Given the description of an element on the screen output the (x, y) to click on. 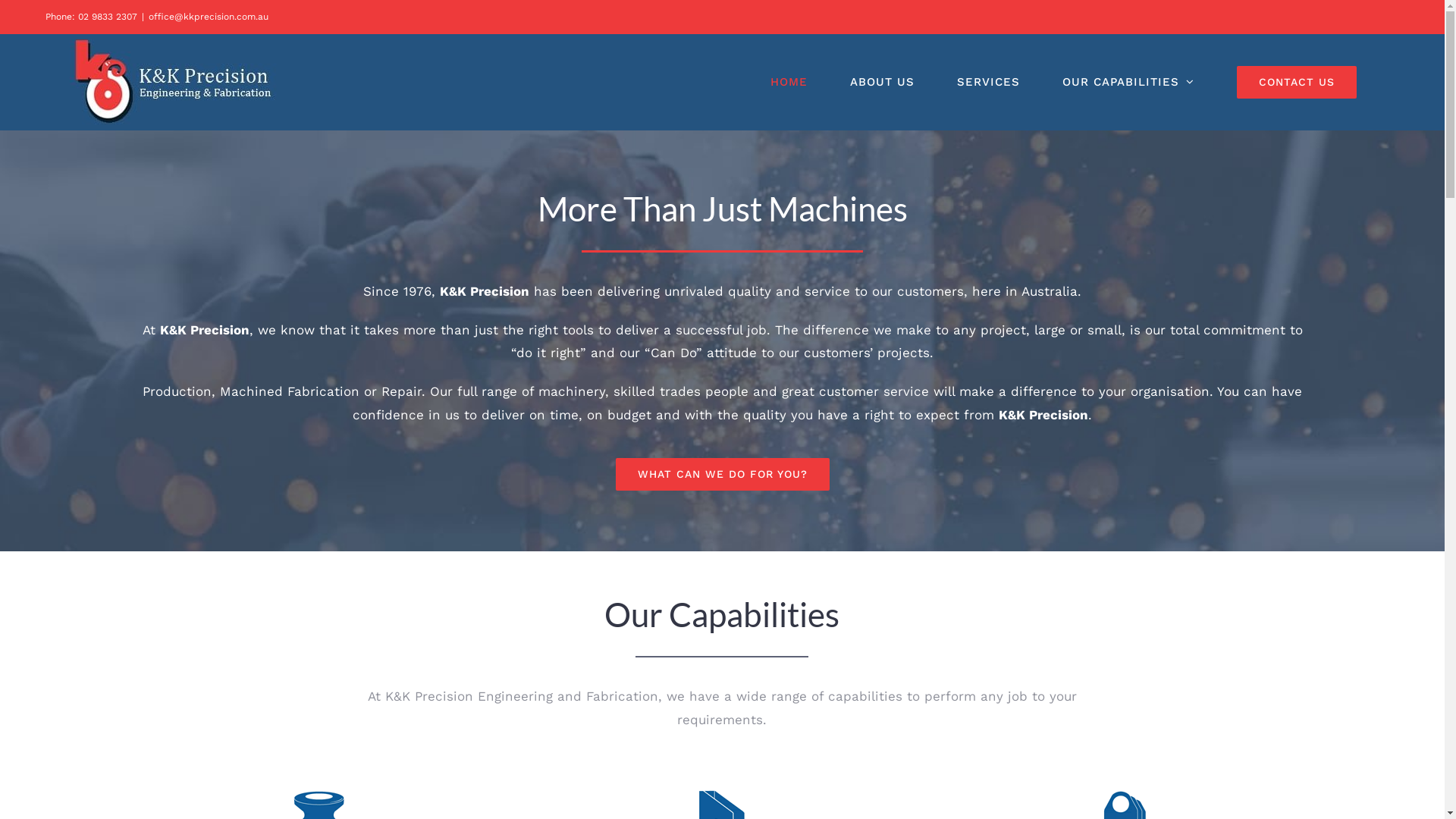
SERVICES Element type: text (988, 81)
ABOUT US Element type: text (882, 81)
OUR CAPABILITIES Element type: text (1128, 81)
CONTACT US Element type: text (1296, 81)
HOME Element type: text (788, 81)
office@kkprecision.com.au Element type: text (208, 16)
WHAT CAN WE DO FOR YOU? Element type: text (722, 474)
